Given the description of an element on the screen output the (x, y) to click on. 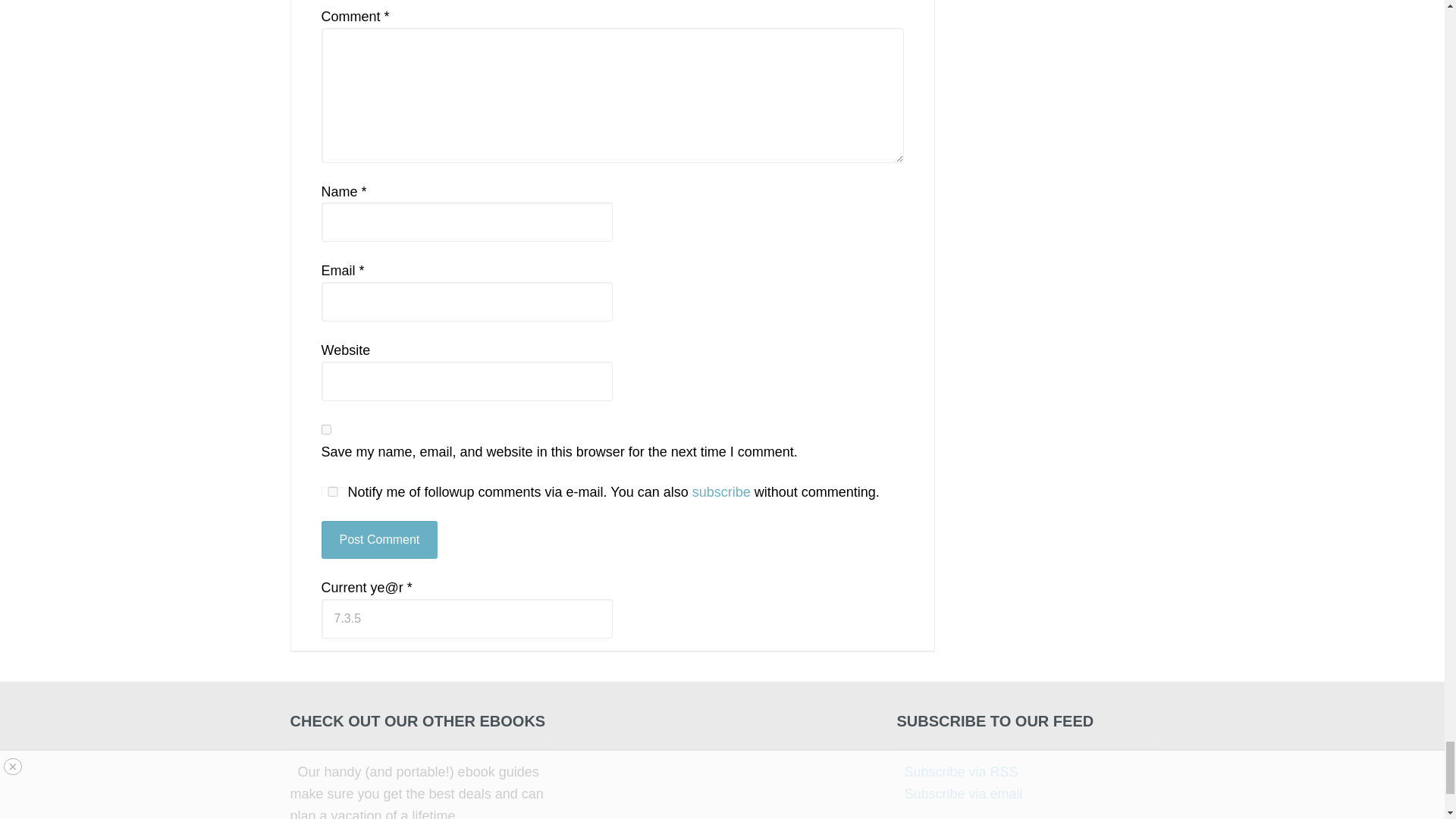
Post Comment (379, 539)
7.3.5 (466, 618)
yes (332, 491)
yes (326, 429)
